Given the description of an element on the screen output the (x, y) to click on. 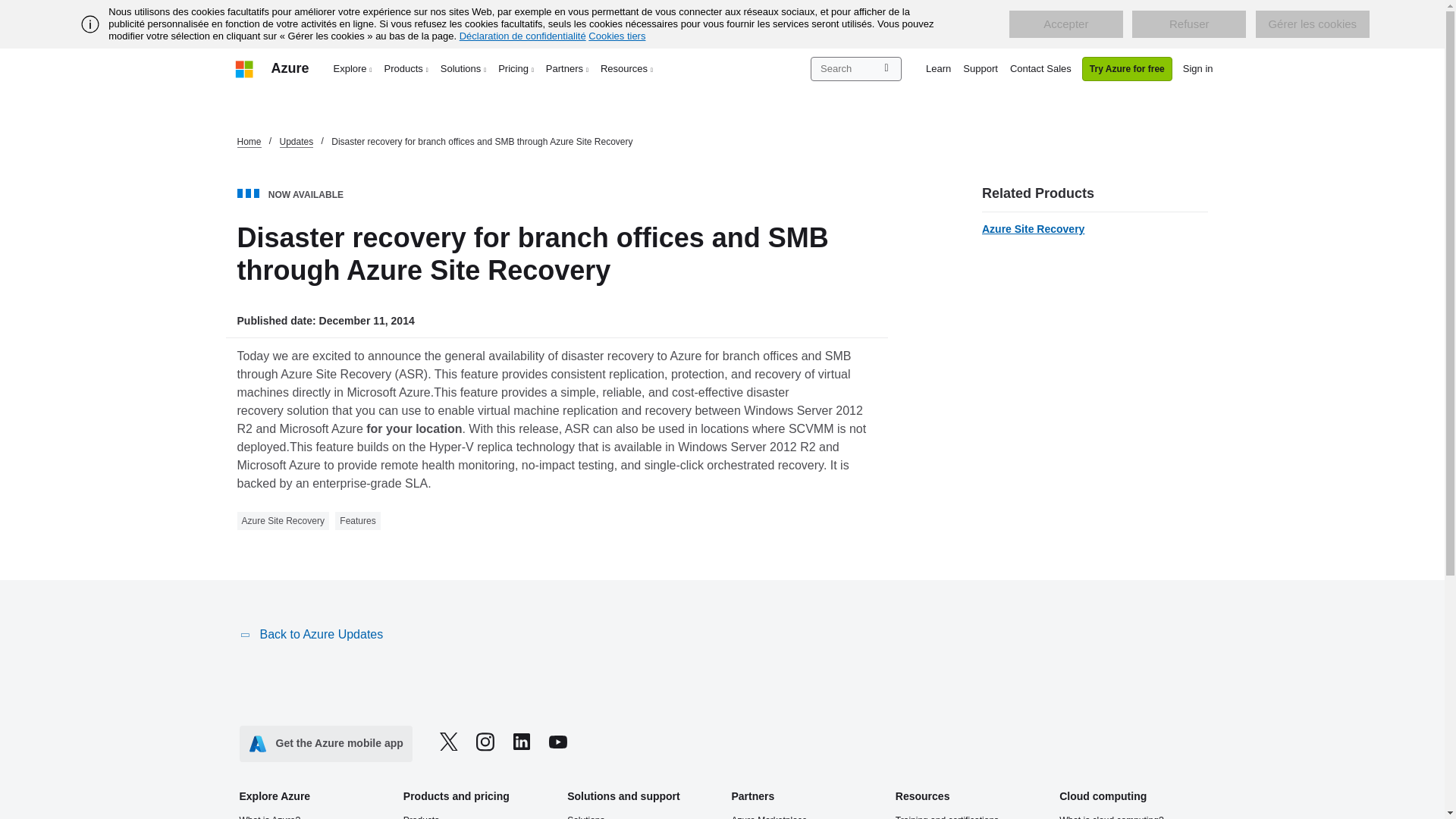
Explore (352, 68)
Cookies tiers (616, 35)
Accepter (1065, 23)
Refuser (1189, 23)
Products (405, 68)
Skip to main content (7, 7)
Azure (289, 68)
